Given the description of an element on the screen output the (x, y) to click on. 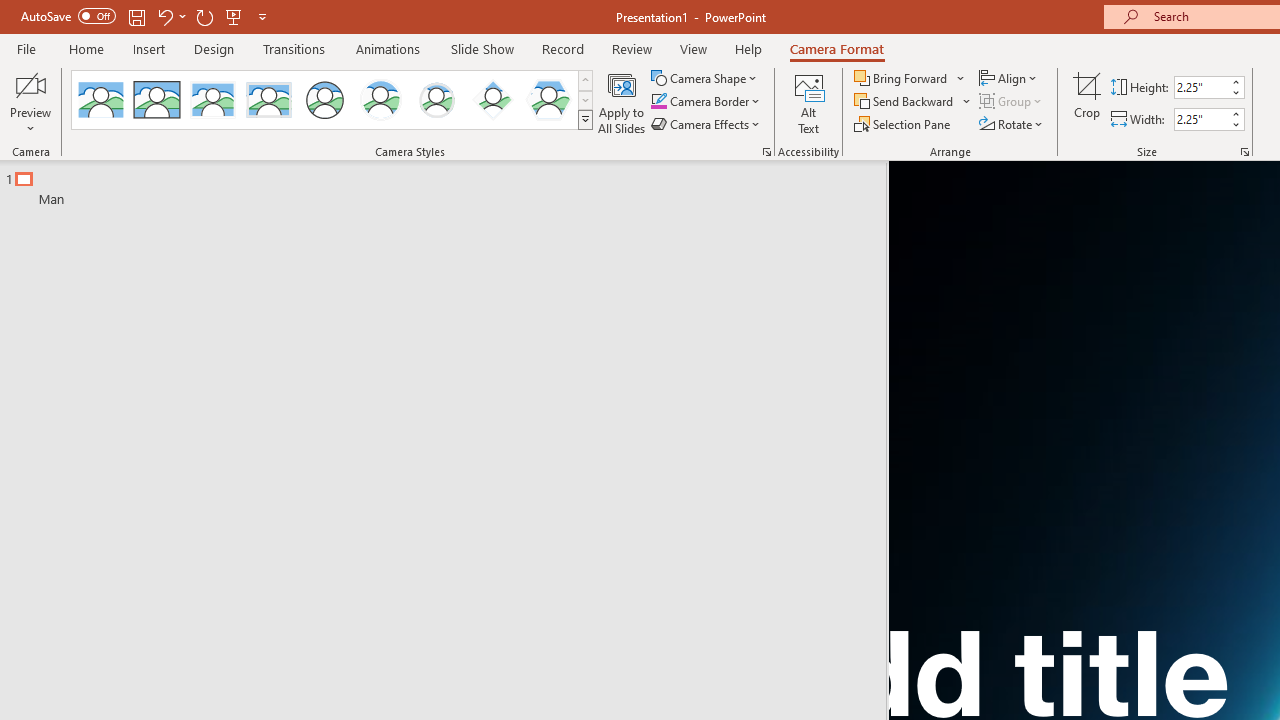
Rotate (1012, 124)
